Given the description of an element on the screen output the (x, y) to click on. 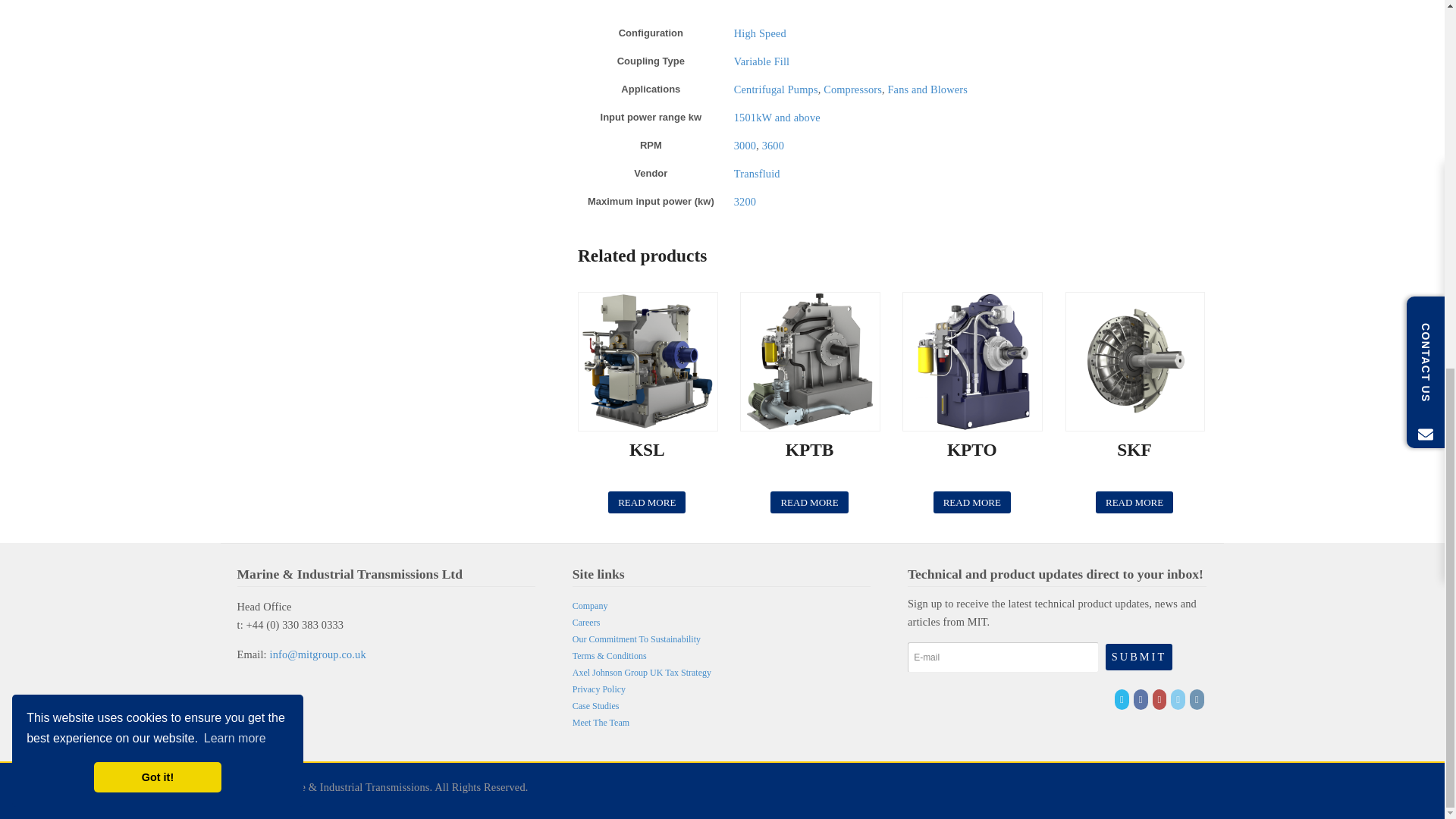
Twitter (1123, 699)
LinkedIn (1178, 699)
Learn more (234, 71)
Submit (1138, 656)
Got it! (157, 110)
Facebook (1142, 699)
E-mail (1003, 657)
Instagram (1197, 699)
YouTube (1161, 699)
